Given the description of an element on the screen output the (x, y) to click on. 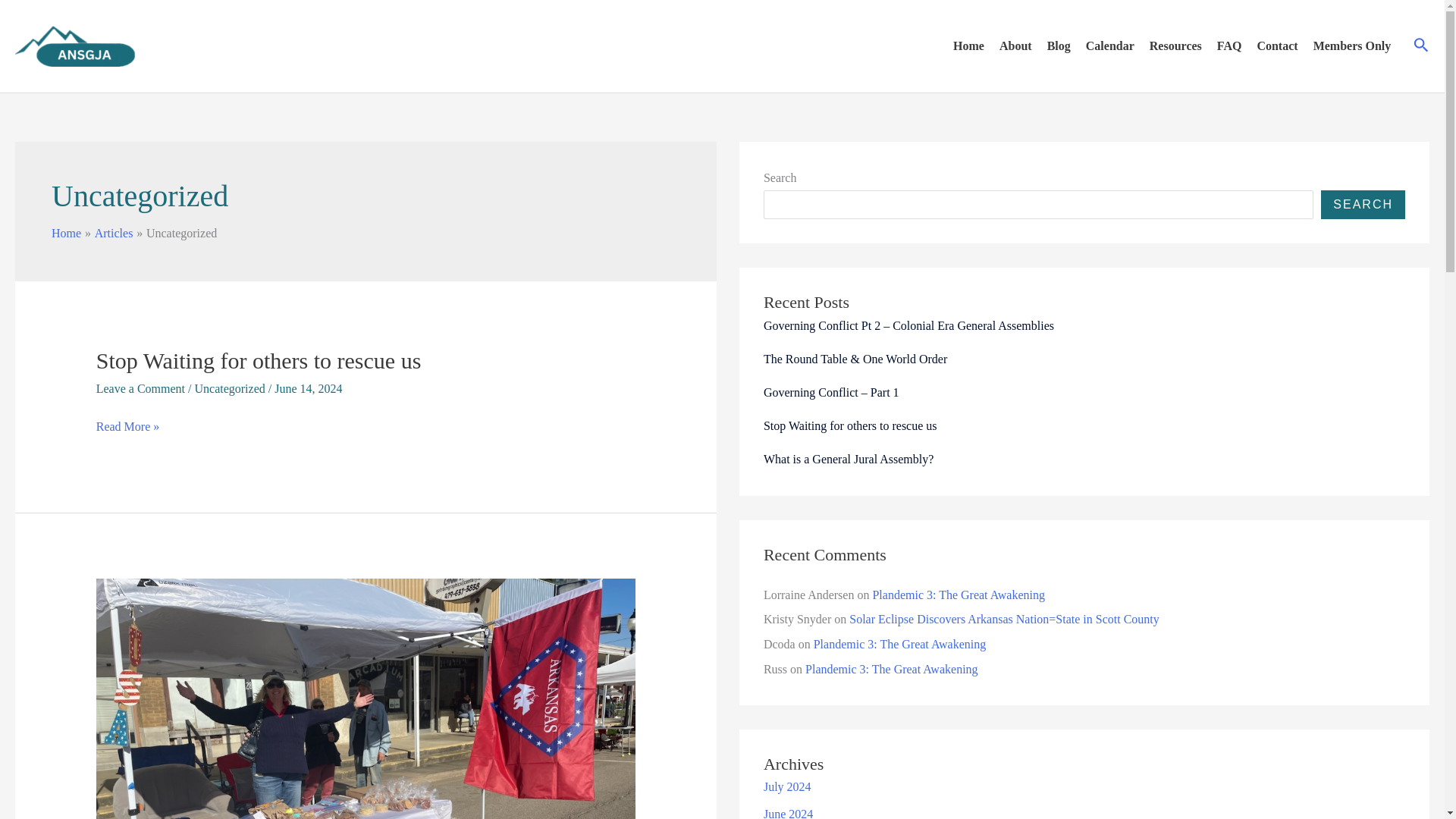
Stop Waiting for others to rescue us (259, 360)
Articles (113, 232)
Uncategorized (228, 388)
Home (65, 232)
Leave a Comment (140, 388)
Resources (1175, 46)
Members Only (1352, 46)
Calendar (1109, 46)
